Given the description of an element on the screen output the (x, y) to click on. 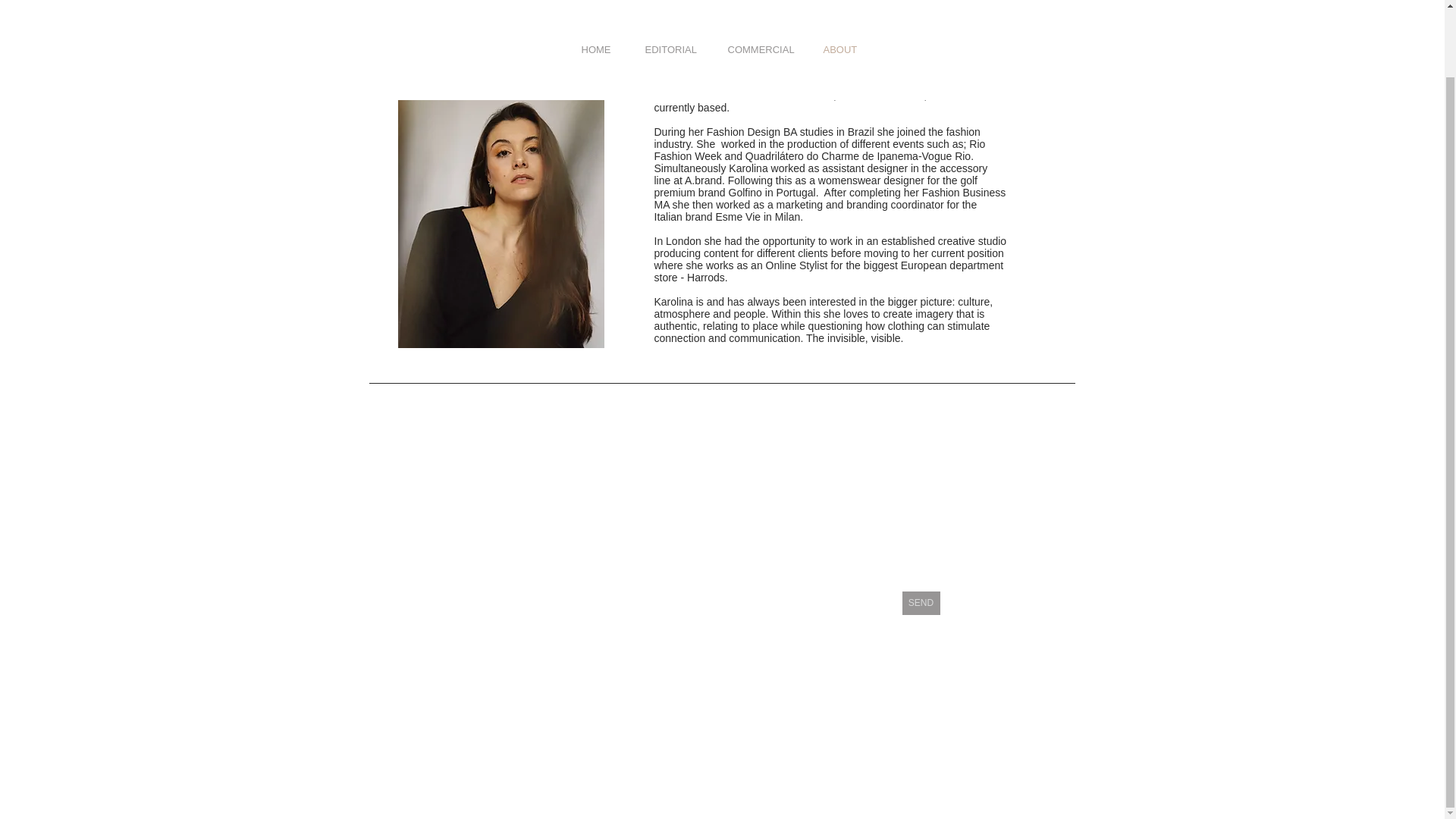
SEND (921, 603)
